Given the description of an element on the screen output the (x, y) to click on. 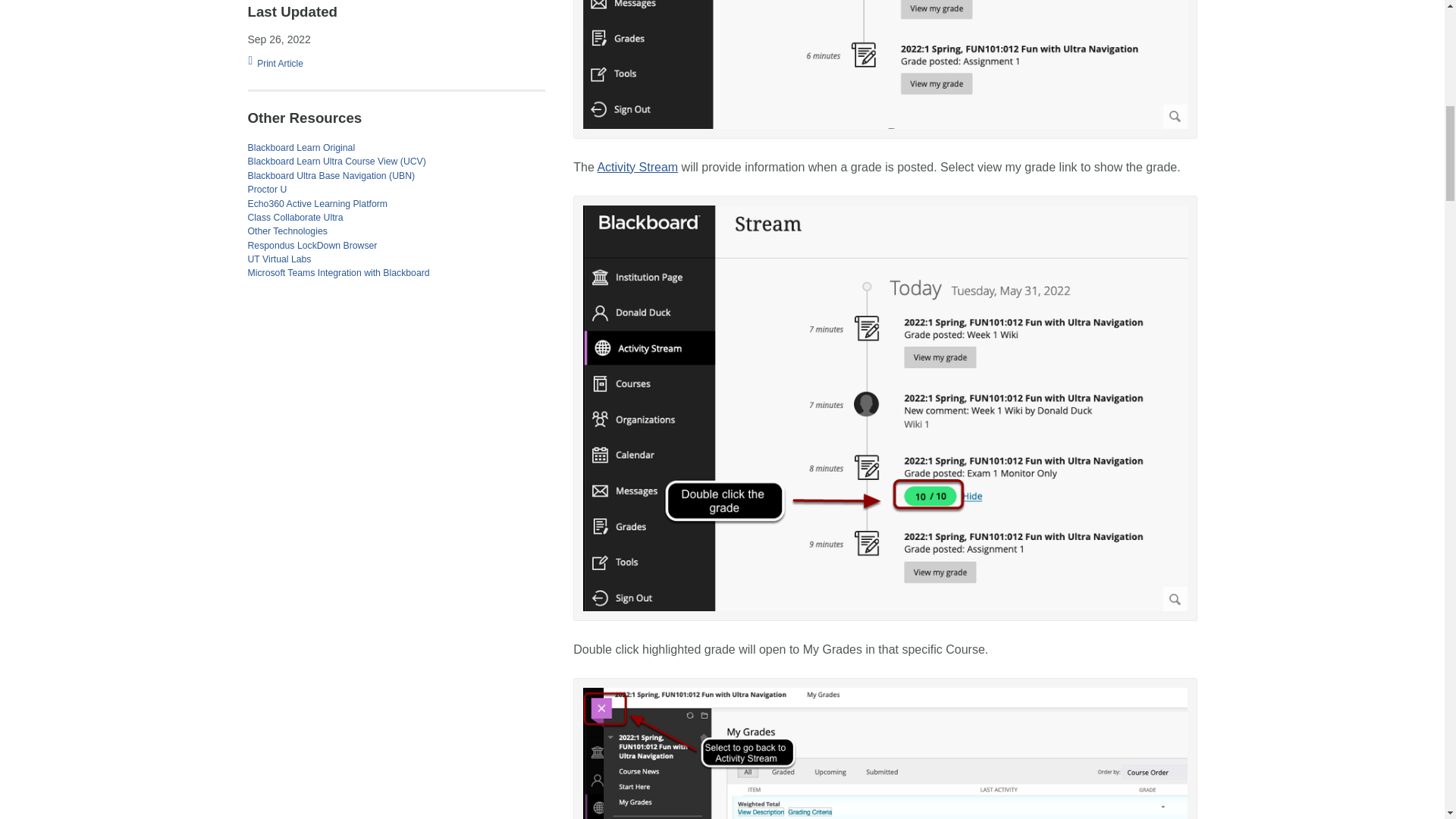
Activity Stream (637, 166)
